Given the description of an element on the screen output the (x, y) to click on. 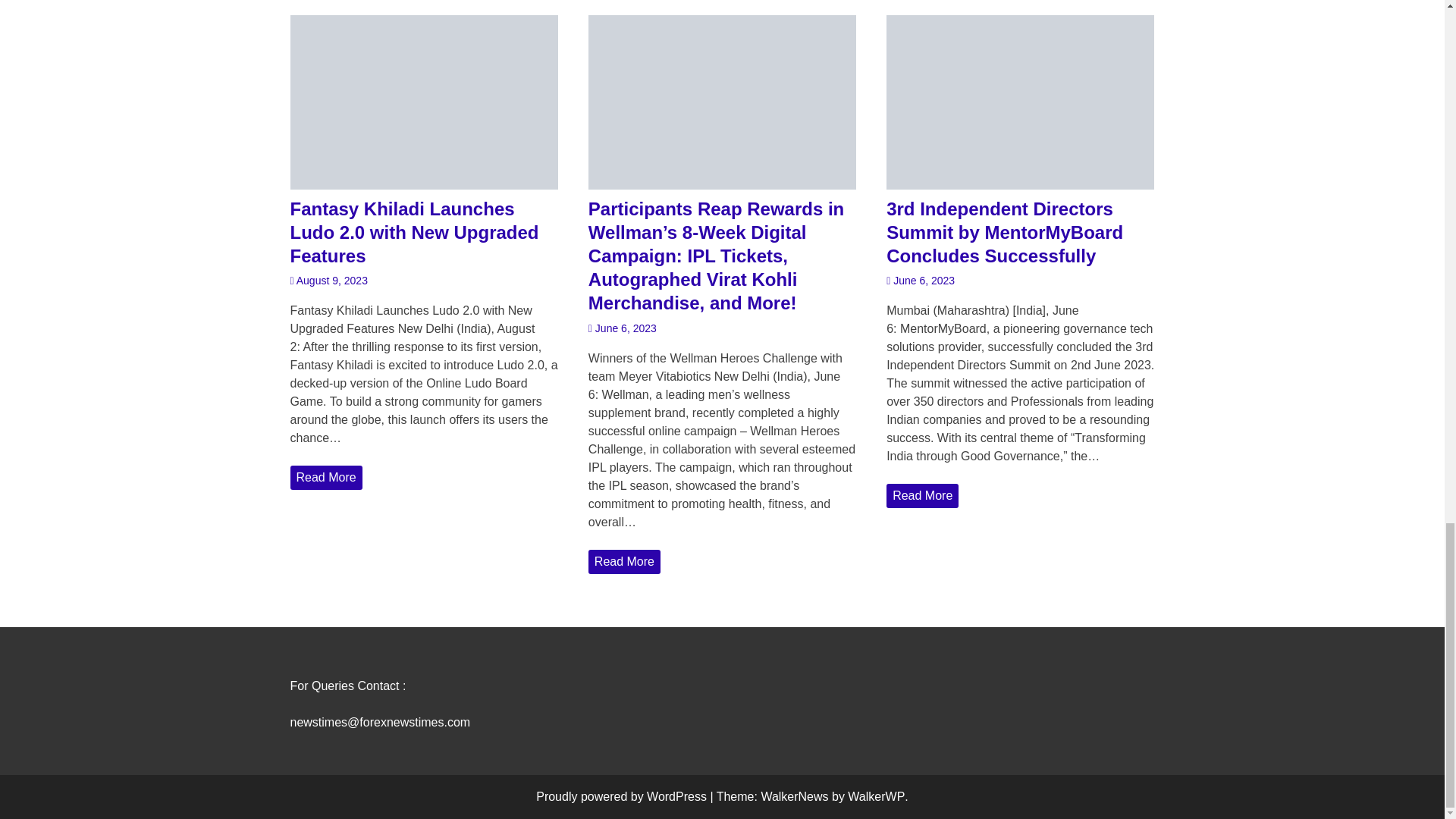
June 6, 2023 (920, 280)
Read More (624, 561)
Read More (325, 477)
August 9, 2023 (327, 280)
Read More (922, 495)
June 6, 2023 (622, 328)
